Given the description of an element on the screen output the (x, y) to click on. 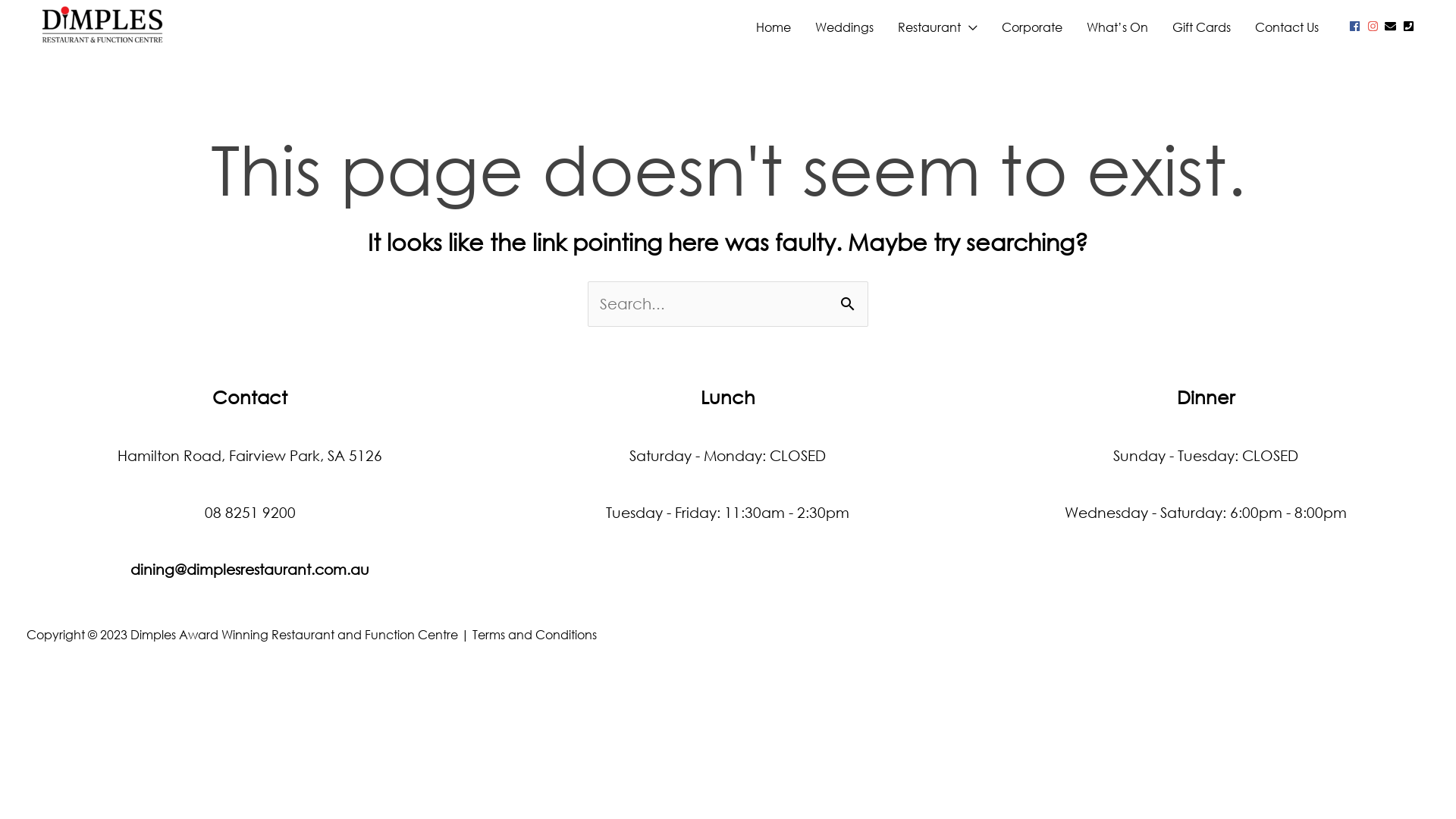
dining@dimplesrestaurant.com.au Element type: text (249, 568)
Home Element type: text (773, 27)
Restaurant Element type: text (937, 27)
Contact Us Element type: text (1286, 27)
Weddings Element type: text (844, 27)
Search Element type: text (851, 296)
Gift Cards Element type: text (1201, 27)
Corporate Element type: text (1031, 27)
Terms and Conditions Element type: text (534, 634)
